Given the description of an element on the screen output the (x, y) to click on. 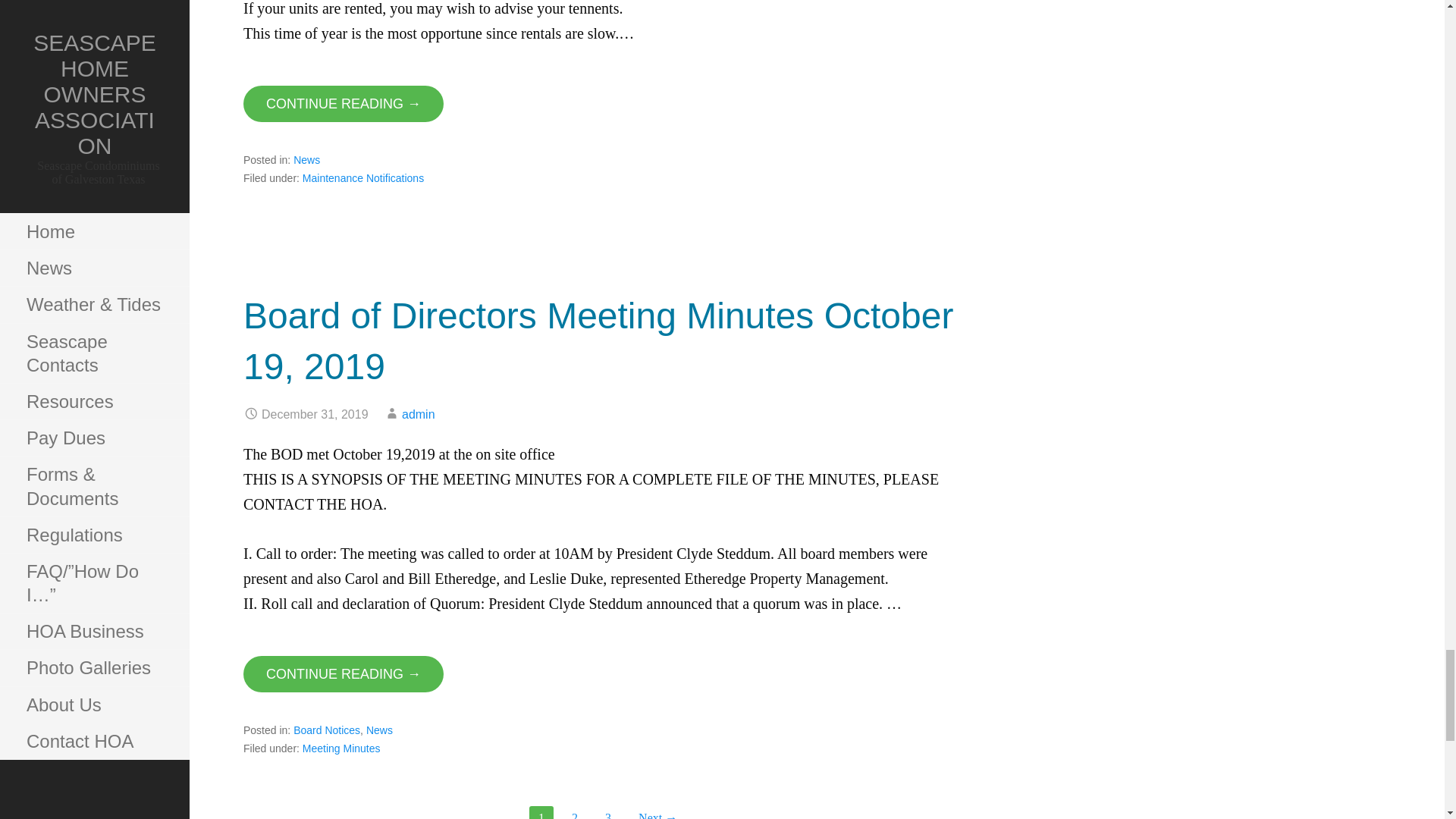
Posts by admin (418, 413)
